Given the description of an element on the screen output the (x, y) to click on. 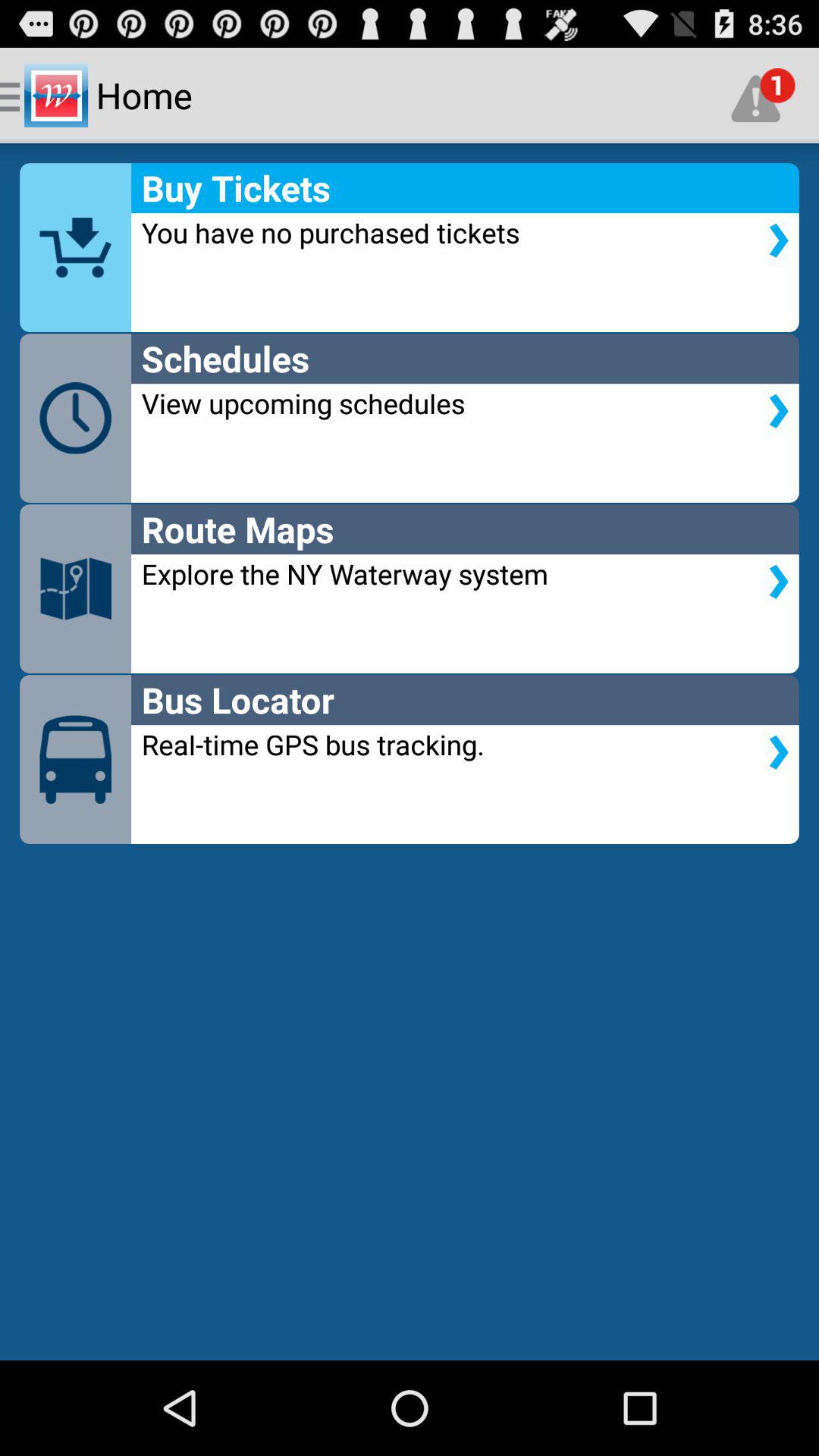
move to icon which is left to route maps (75, 588)
click caution icon (763, 95)
click the first row buy tickets (409, 247)
choose the arrow below the schedules (778, 411)
choose the right arrow of route maps (778, 581)
